Given the description of an element on the screen output the (x, y) to click on. 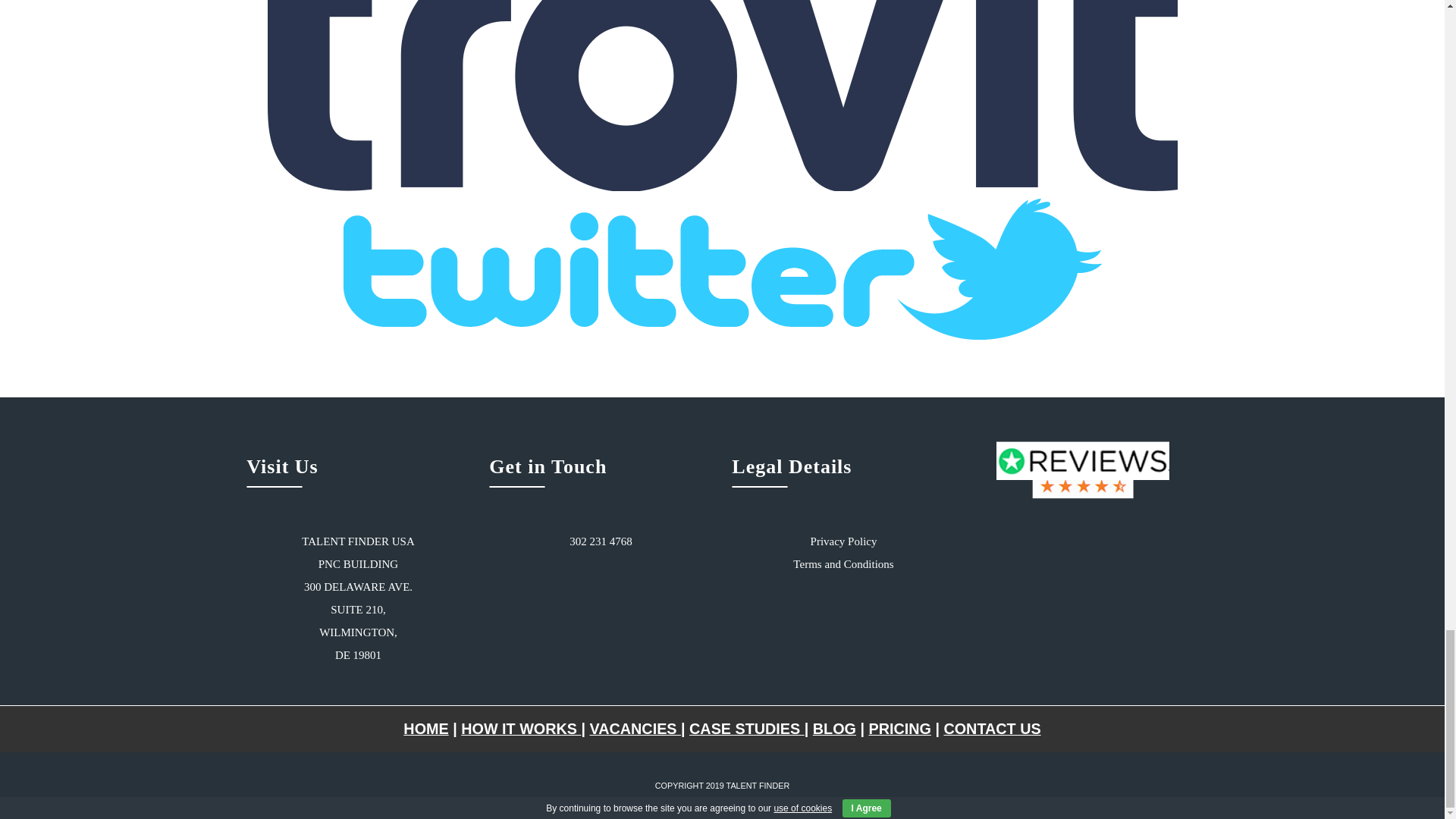
BLOG (834, 728)
302 231 4768 (600, 541)
Privacy Policy (843, 541)
HOW IT WORKS (520, 728)
PRICING (898, 728)
HOME (425, 728)
Terms and Conditions (843, 563)
CONTACT US (992, 728)
VACANCIES (635, 728)
CASE STUDIES (746, 728)
